Given the description of an element on the screen output the (x, y) to click on. 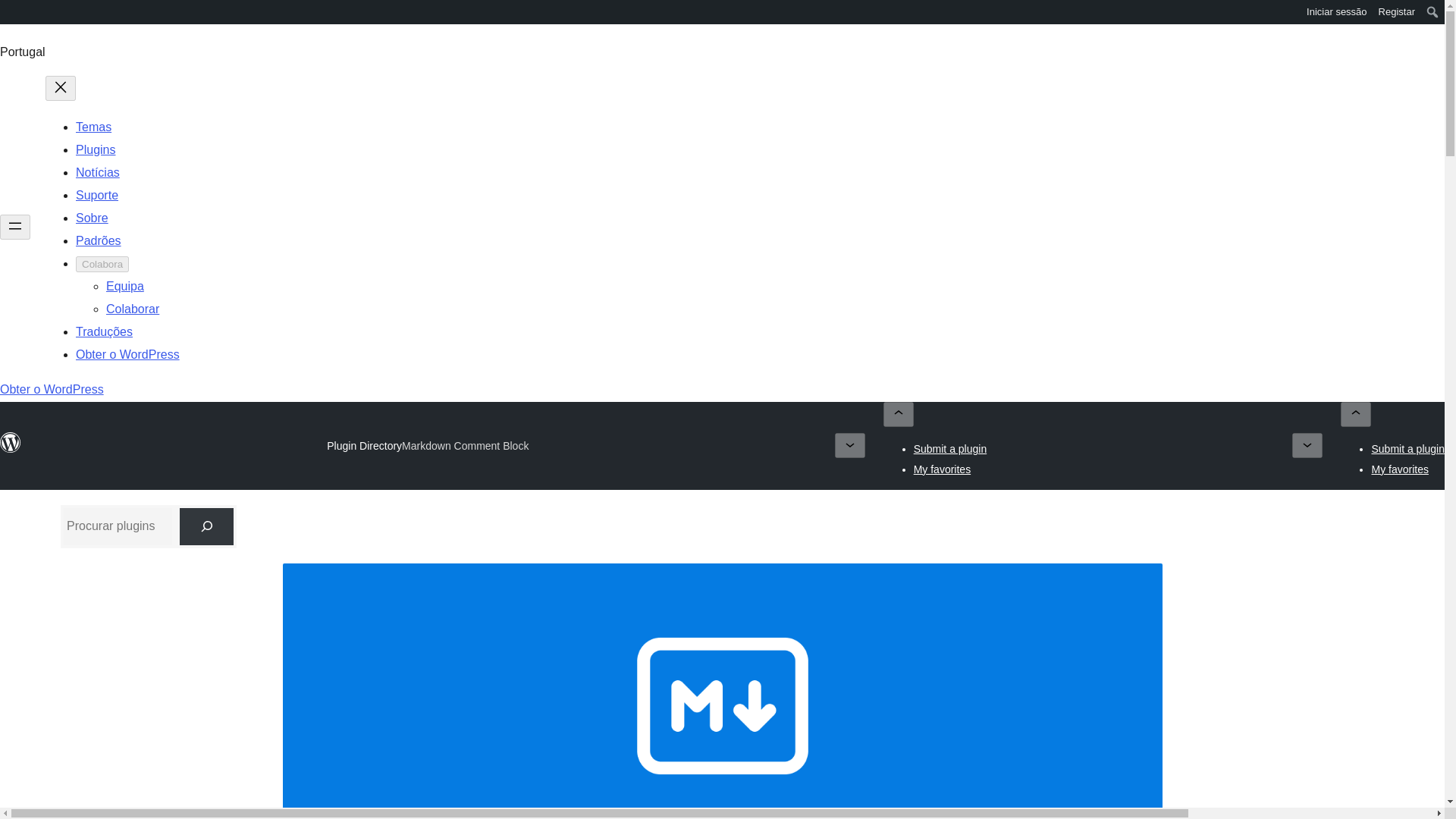
Obter o WordPress (127, 354)
Colabora (102, 263)
WordPress.org (10, 442)
Submit a plugin (1407, 449)
My favorites (1399, 468)
Markdown Comment Block (464, 445)
WordPress.org (10, 16)
Pesquisar (23, 13)
My favorites (942, 468)
Suporte (96, 195)
